Given the description of an element on the screen output the (x, y) to click on. 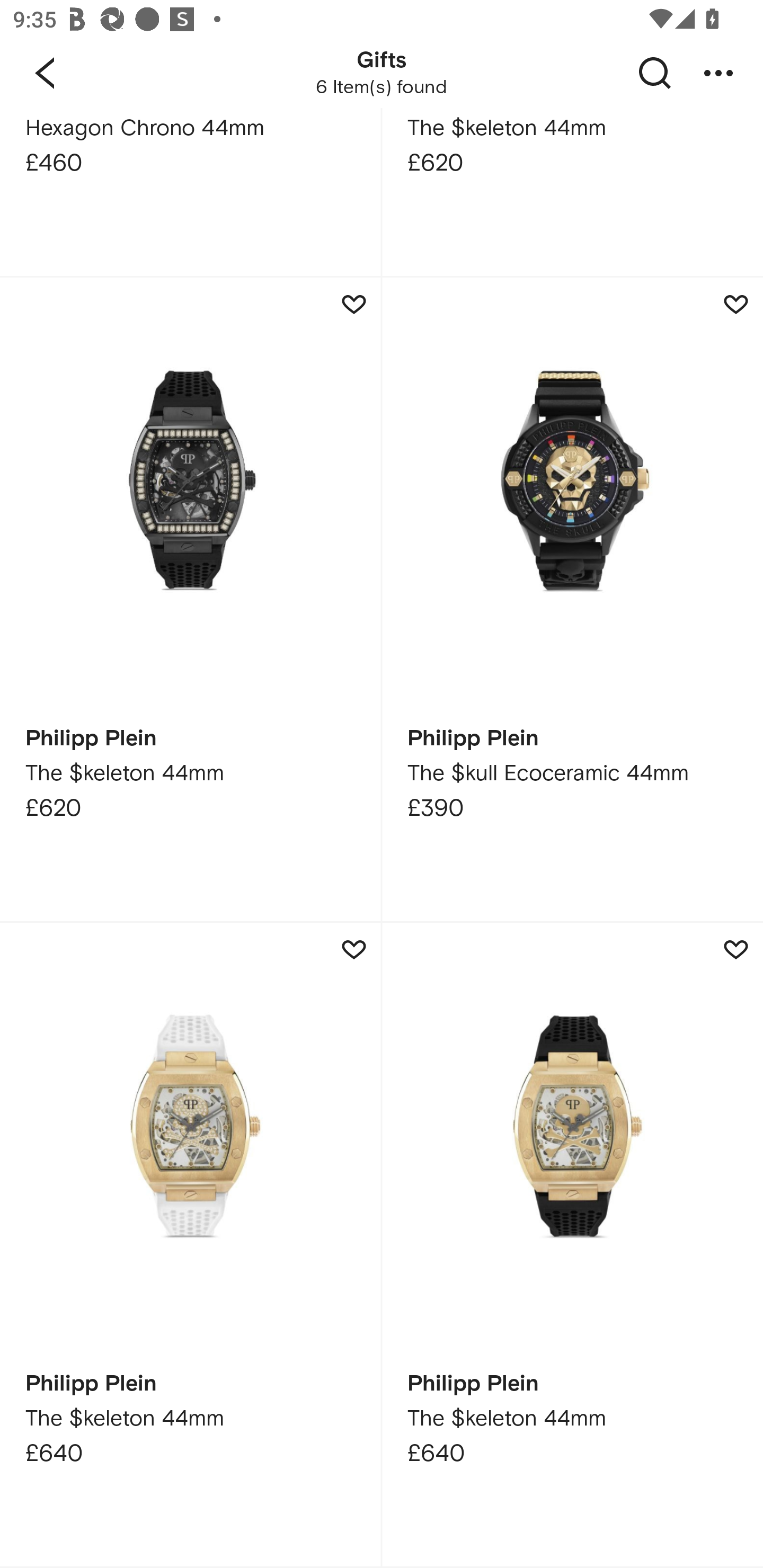
Philipp Plein The $keleton 44mm £620 (190, 599)
Philipp Plein The $kull Ecoceramic 44mm £390 (572, 599)
Philipp Plein The $keleton 44mm £640 (190, 1244)
Philipp Plein The $keleton 44mm £640 (572, 1244)
